Given the description of an element on the screen output the (x, y) to click on. 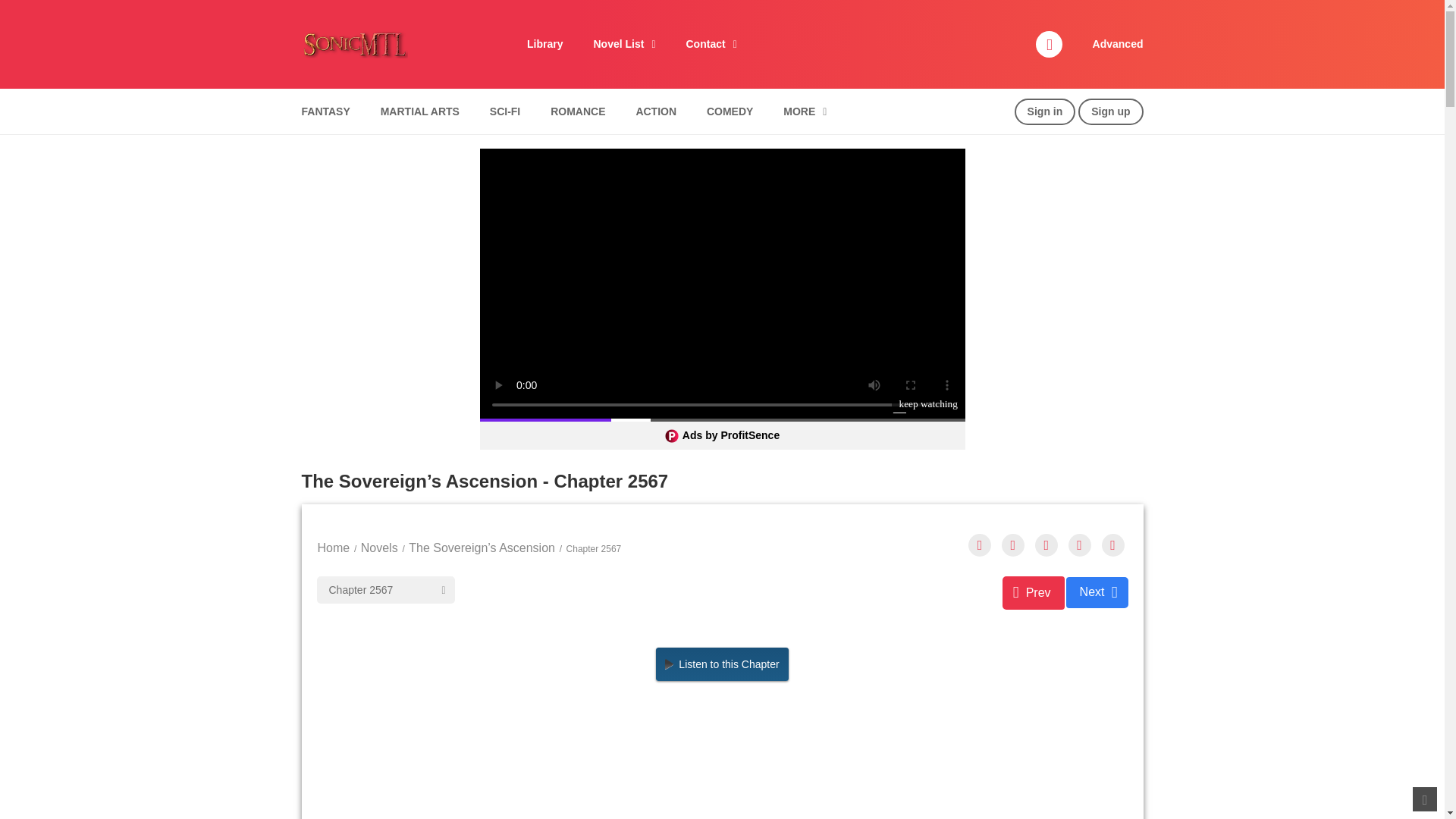
Advanced (1117, 43)
ACTION (655, 111)
COMEDY (729, 111)
Search (970, 9)
Advertisement (722, 761)
MORE (804, 111)
SCI-FI (504, 111)
Report this chapter (1112, 544)
FANTASY (325, 111)
Sonic MTL (354, 42)
MARTIAL ARTS (419, 111)
Chapter 2568 (1096, 592)
Contact (710, 44)
ROMANCE (577, 111)
Library (545, 44)
